Given the description of an element on the screen output the (x, y) to click on. 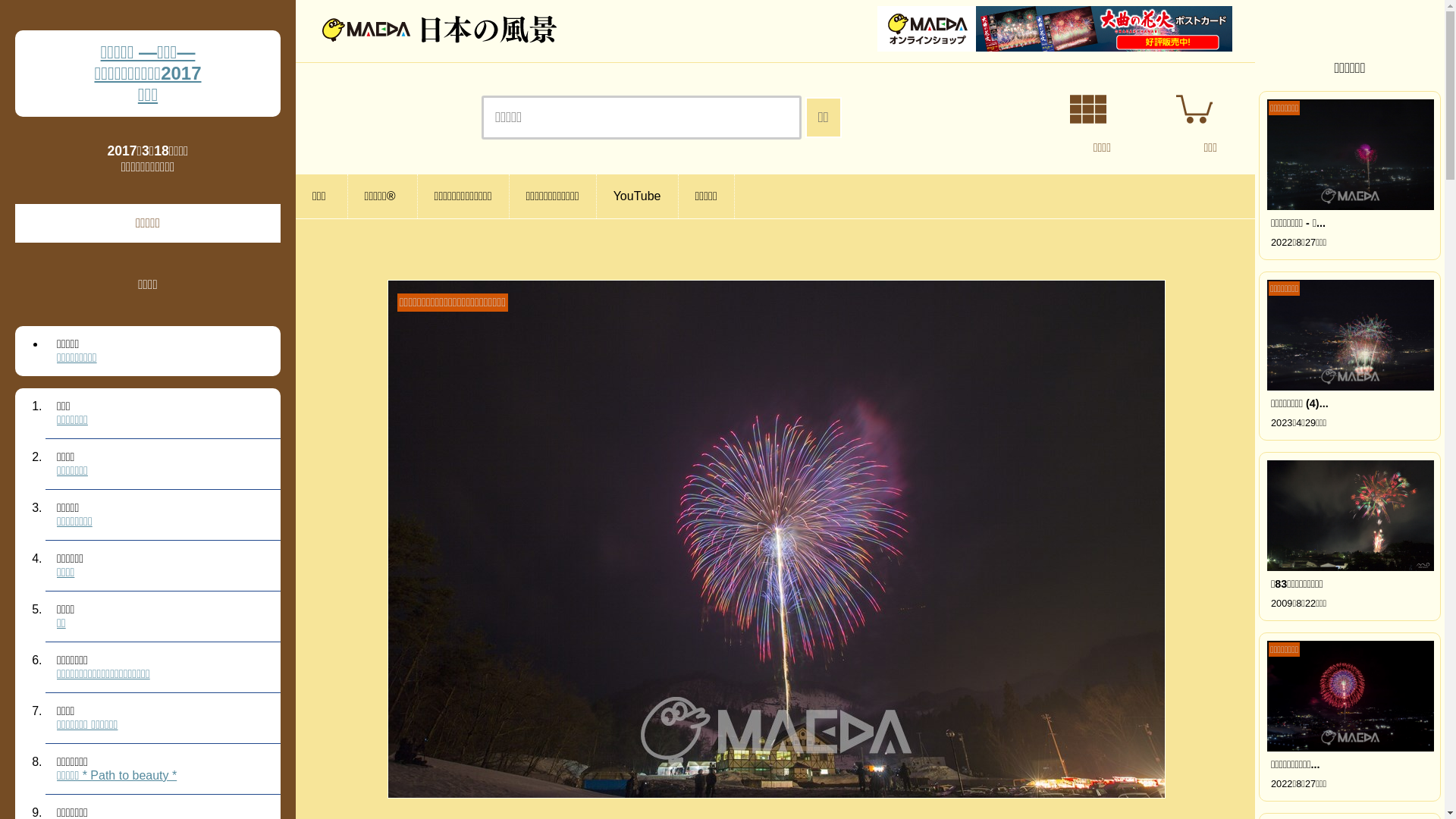
YouTube Element type: text (637, 196)
